Given the description of an element on the screen output the (x, y) to click on. 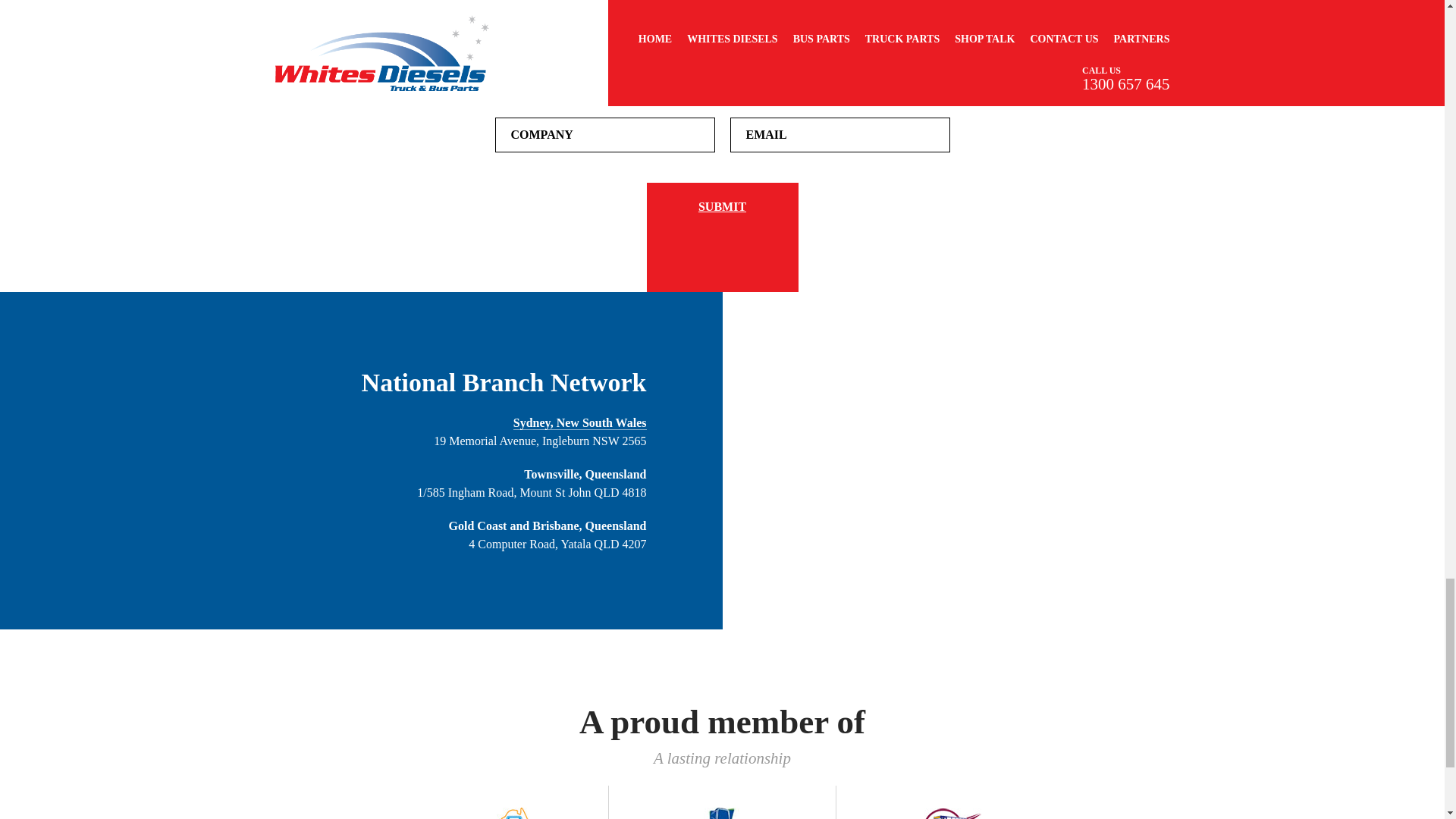
Submit (721, 236)
Submit (721, 236)
Gold Coast and Brisbane, Queensland (547, 525)
Townsville, Queensland (585, 473)
Sydney, New South Wales (579, 422)
